Given the description of an element on the screen output the (x, y) to click on. 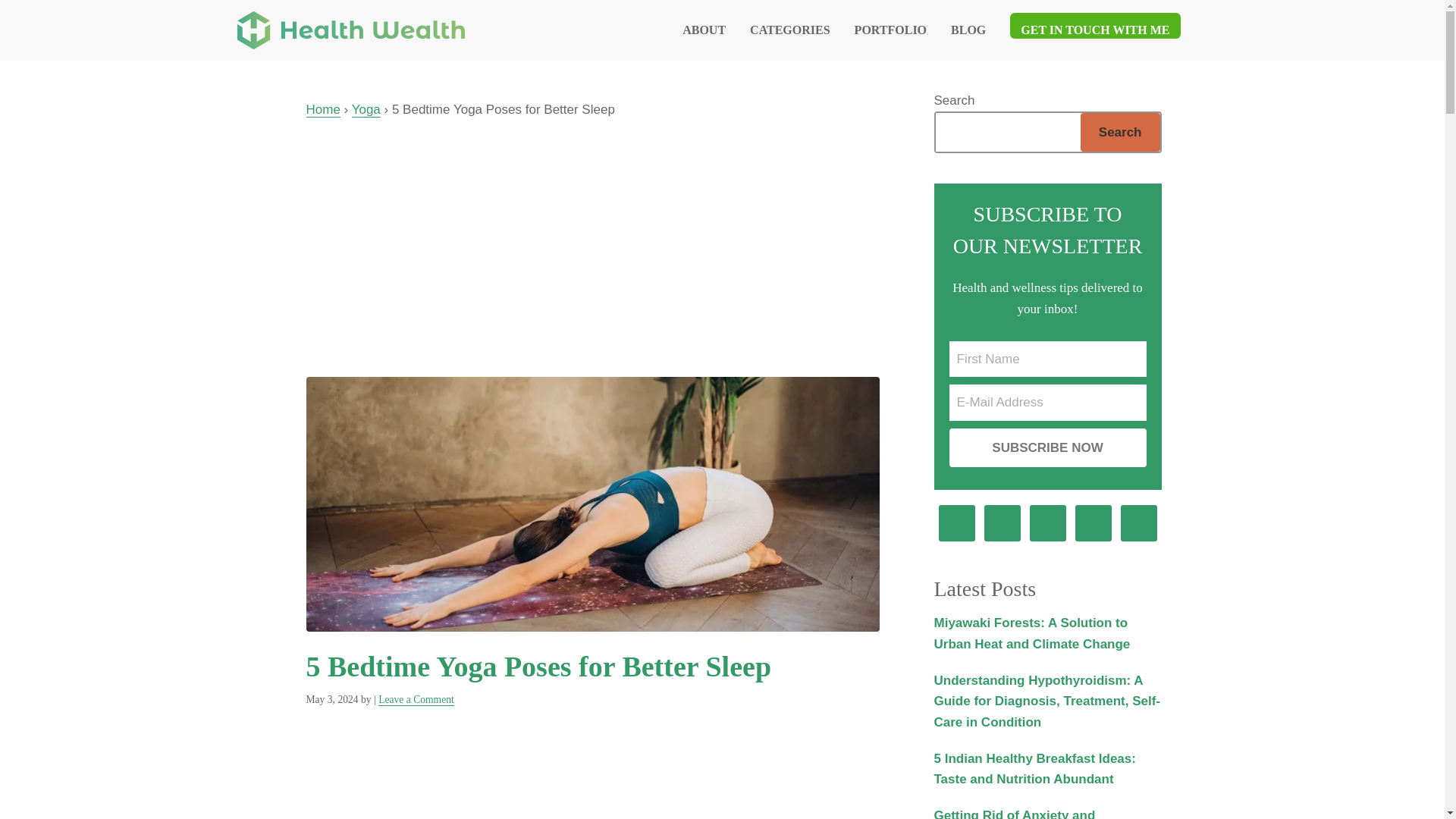
Advertisement (592, 241)
BLOG (968, 30)
Advertisement (592, 772)
ABOUT (703, 30)
Home (322, 109)
SUBSCRIBE NOW (1048, 447)
PORTFOLIO (891, 30)
Yoga (366, 109)
GET IN TOUCH WITH ME (1094, 30)
